Given the description of an element on the screen output the (x, y) to click on. 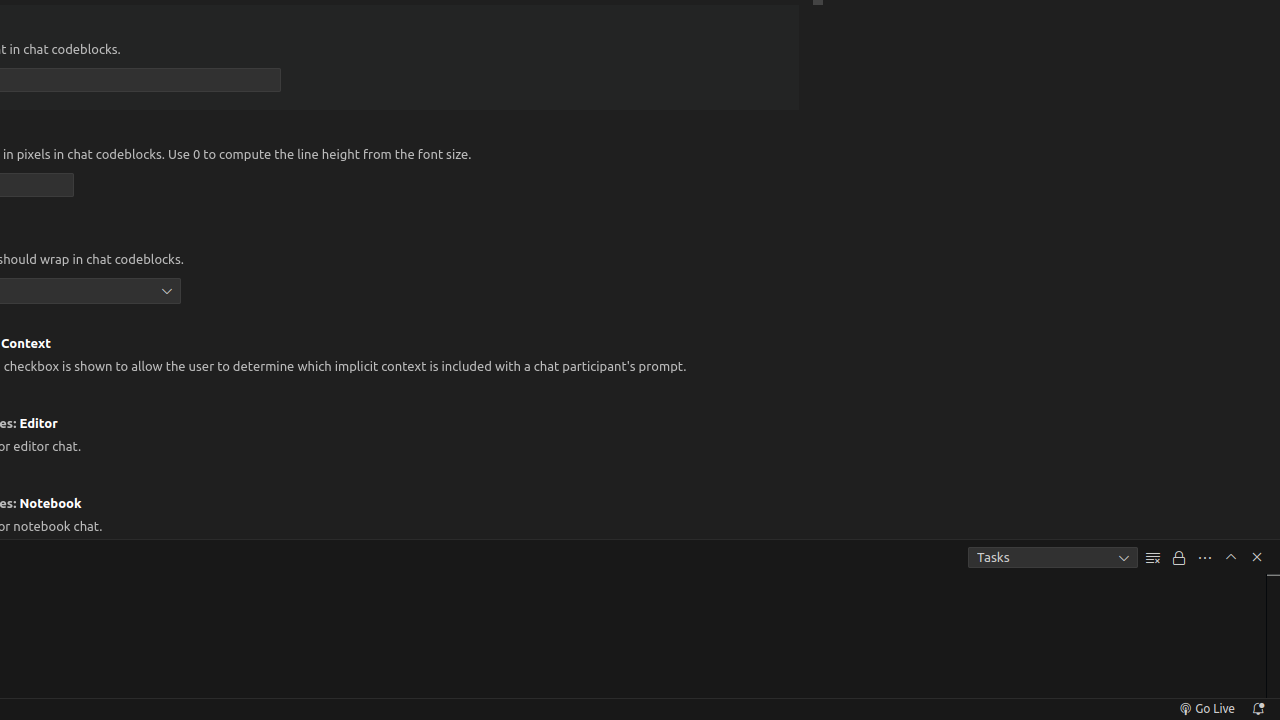
Maximize Panel Size Element type: check-box (1231, 557)
Clear Output Element type: push-button (1153, 557)
Views and More Actions... Element type: push-button (1205, 557)
